Given the description of an element on the screen output the (x, y) to click on. 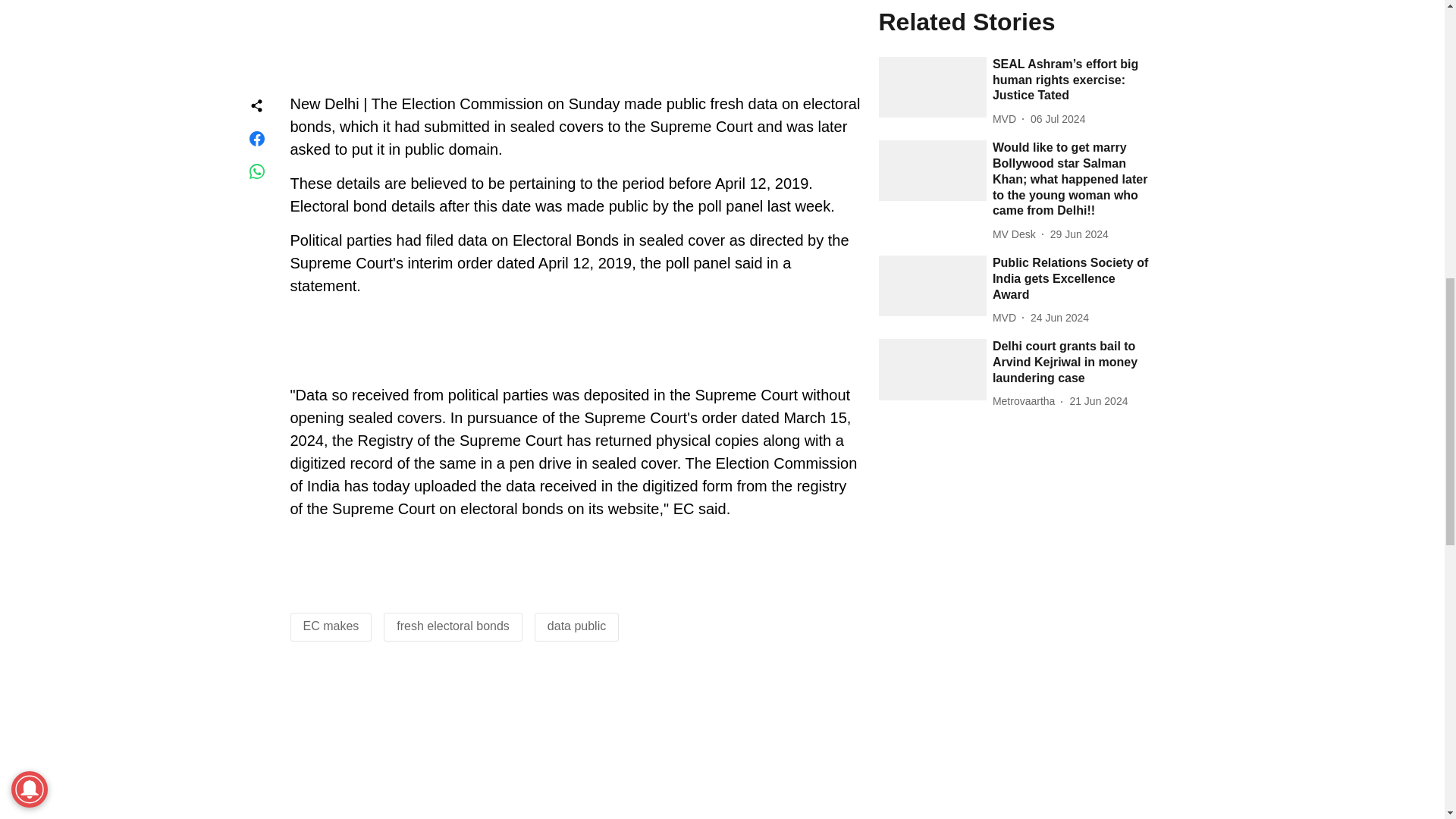
data public (576, 625)
2024-06-20 16:07 (1097, 401)
2024-06-24 06:40 (1059, 317)
2024-07-06 13:28 (1057, 119)
2024-06-29 07:43 (1078, 234)
EC makes (330, 625)
fresh electoral bonds (452, 625)
